Given the description of an element on the screen output the (x, y) to click on. 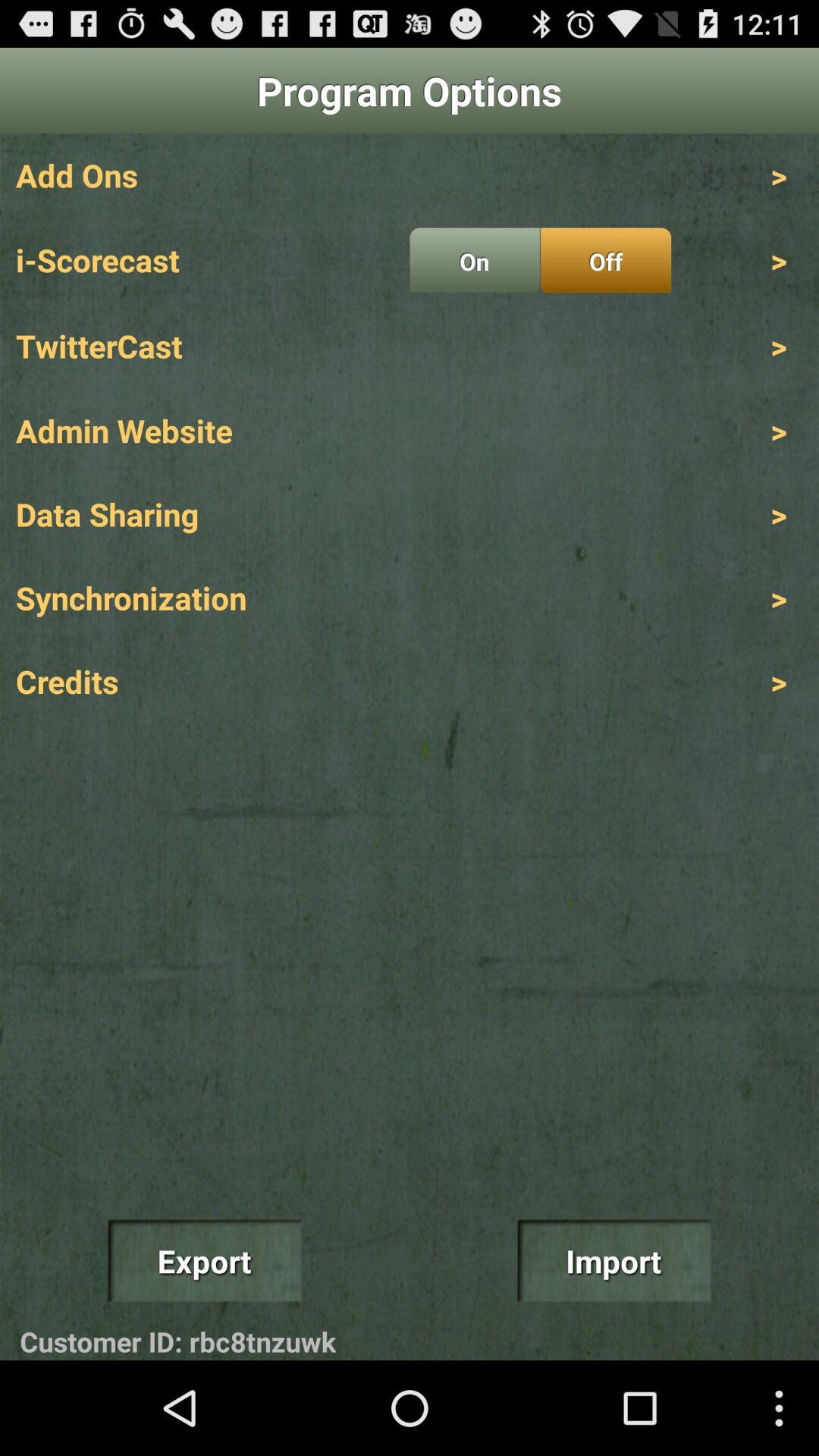
tap the icon below >   icon (605, 259)
